Given the description of an element on the screen output the (x, y) to click on. 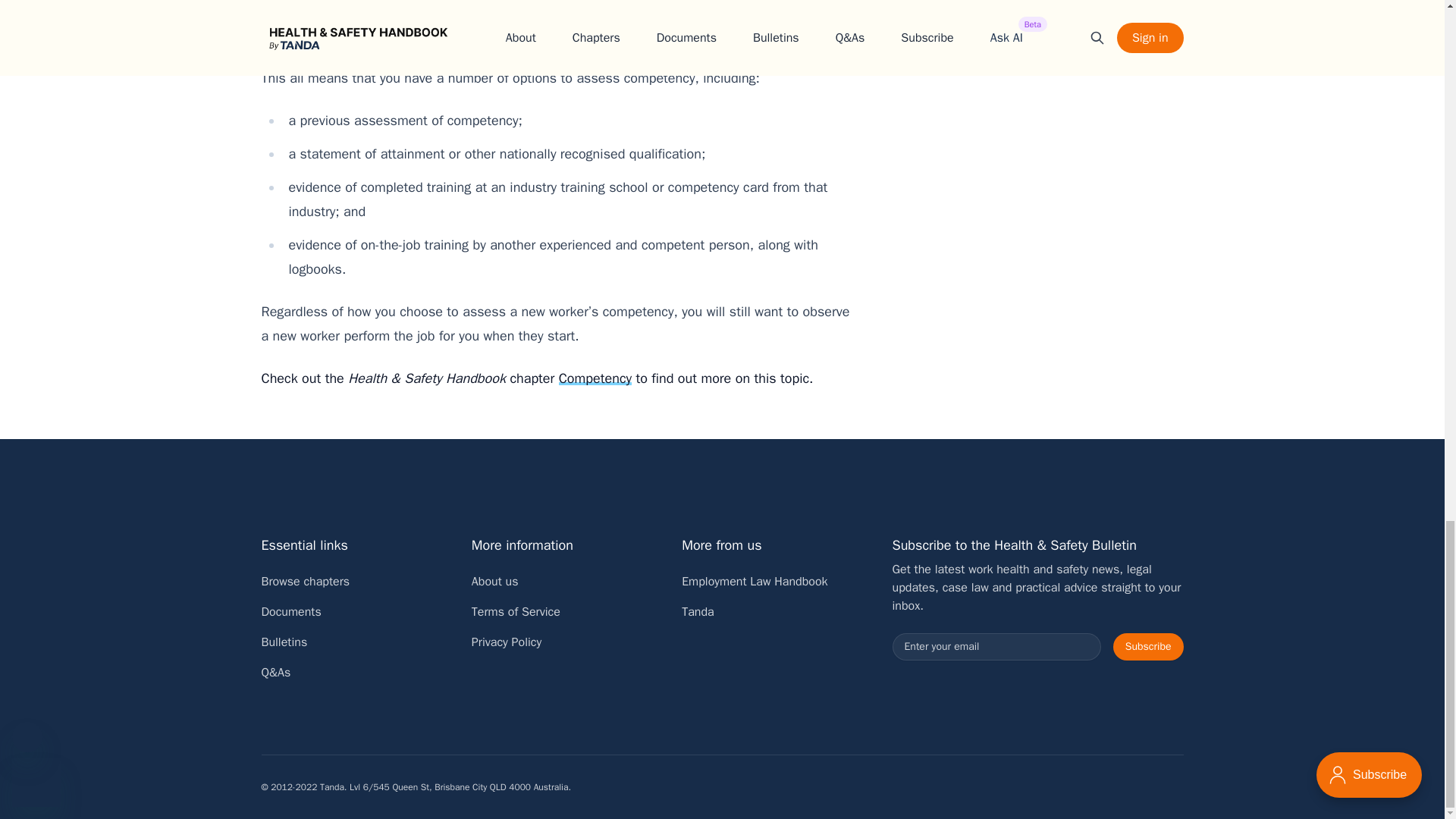
Tanda (697, 611)
About us (494, 581)
Competency (595, 378)
Bulletins (283, 642)
Documents (290, 611)
Browse chapters (304, 581)
Privacy Policy (506, 642)
Terms of Service (515, 611)
Employment Law Handbook (754, 581)
Subscribe (1148, 646)
